Given the description of an element on the screen output the (x, y) to click on. 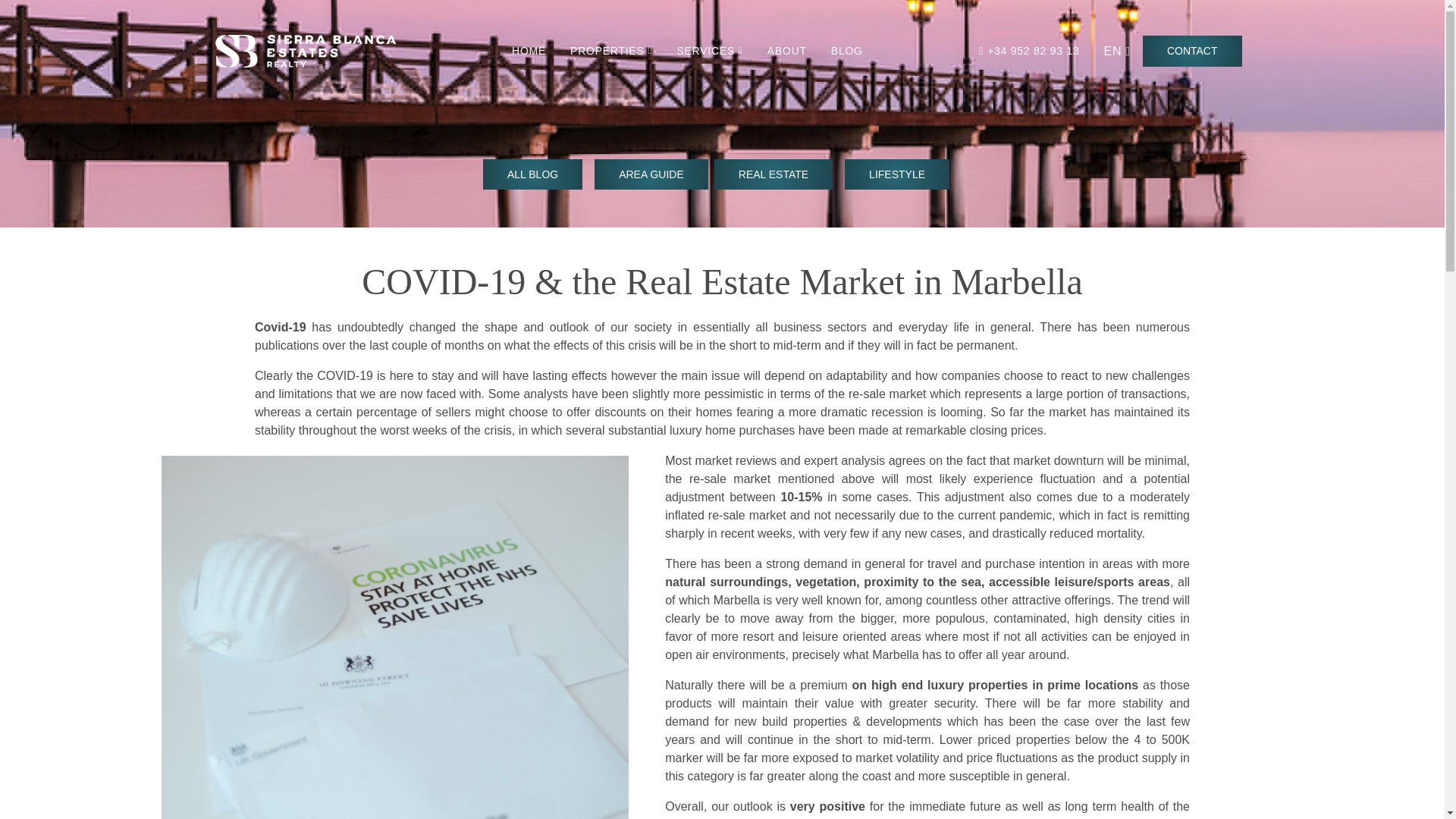
PROPERTIES (610, 51)
AREA GUIDE (650, 173)
ALL BLOG (532, 173)
LIFESTYLE (896, 173)
Telephone (1028, 51)
CONTACT (1191, 51)
REAL ESTATE (773, 173)
